Given the description of an element on the screen output the (x, y) to click on. 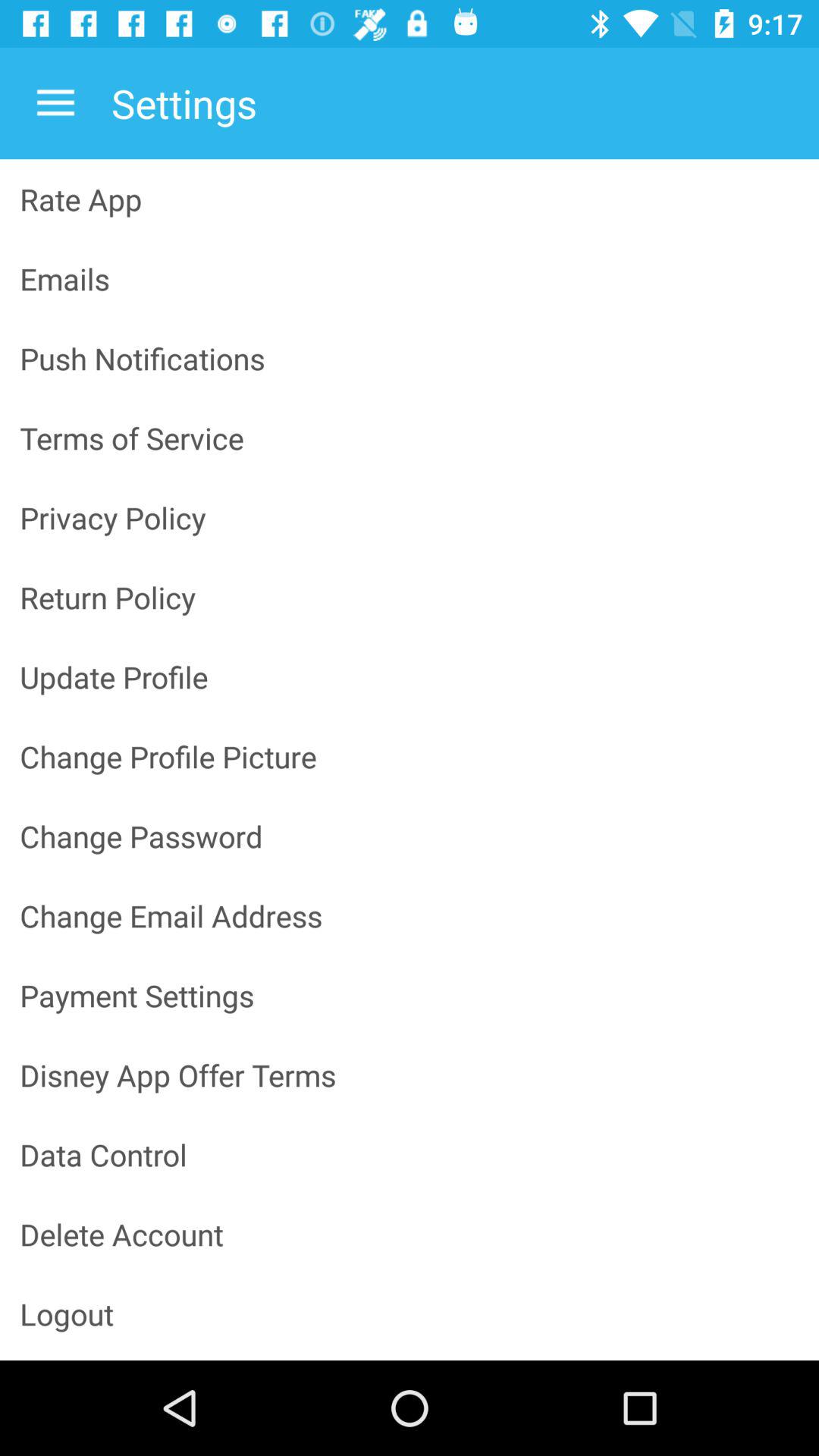
press icon below emails (409, 358)
